Given the description of an element on the screen output the (x, y) to click on. 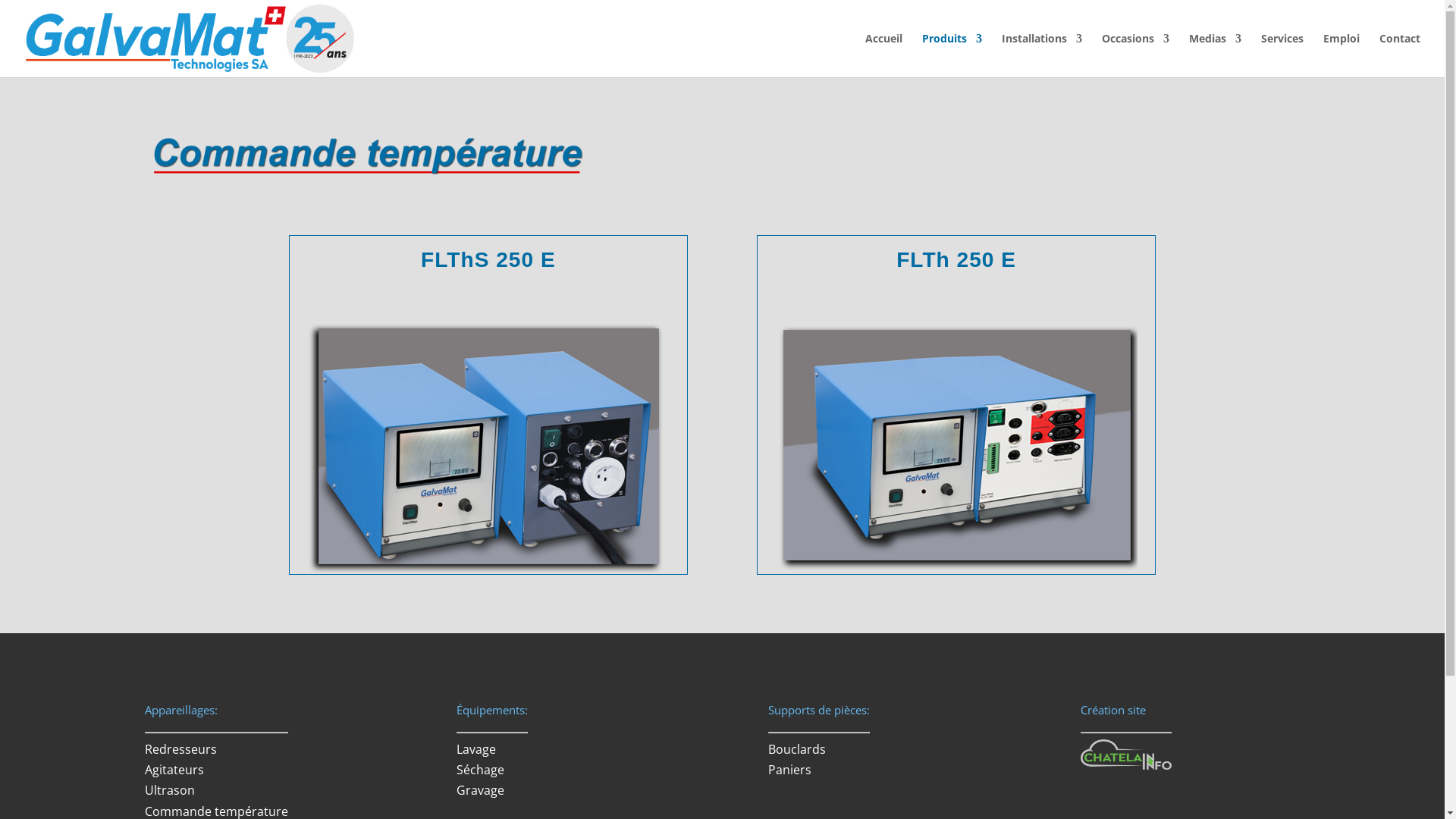
Agitateurs Element type: text (173, 769)
Installations Element type: text (1041, 55)
Paniers Element type: text (789, 769)
Services Element type: text (1282, 55)
Ultrason Element type: text (169, 789)
Lavage Element type: text (475, 748)
FLThS 250 E Element type: text (487, 258)
Emploi Element type: text (1341, 55)
Medias Element type: text (1215, 55)
Produits Element type: text (952, 55)
Occasions Element type: text (1135, 55)
Accueil Element type: text (883, 55)
Redresseurs Element type: text (180, 748)
FLTh 250 E Element type: text (956, 258)
Gravage Element type: text (480, 789)
Contact Element type: text (1399, 55)
Bouclards Element type: text (796, 748)
